Given the description of an element on the screen output the (x, y) to click on. 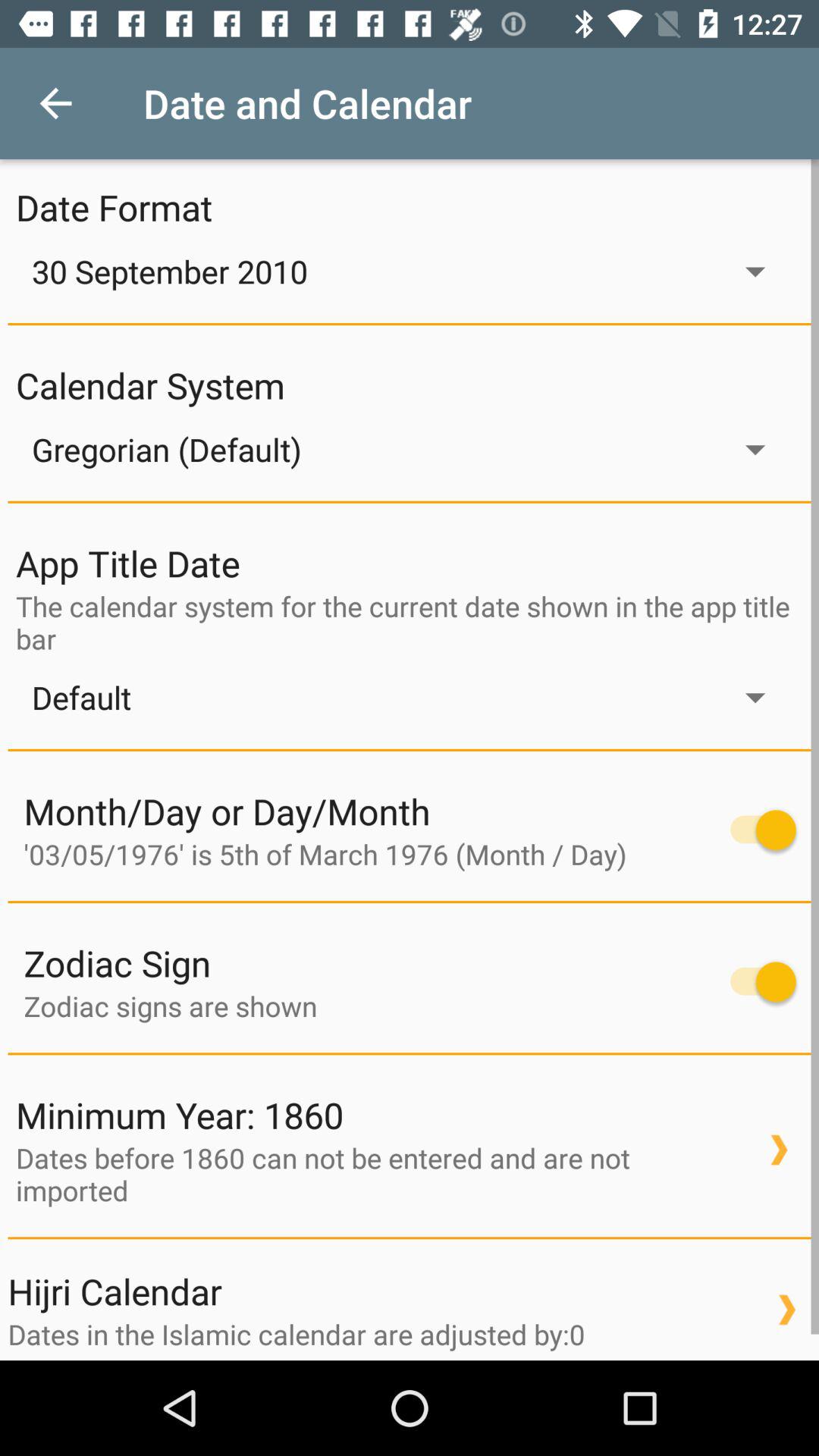
turn off and on (755, 981)
